Given the description of an element on the screen output the (x, y) to click on. 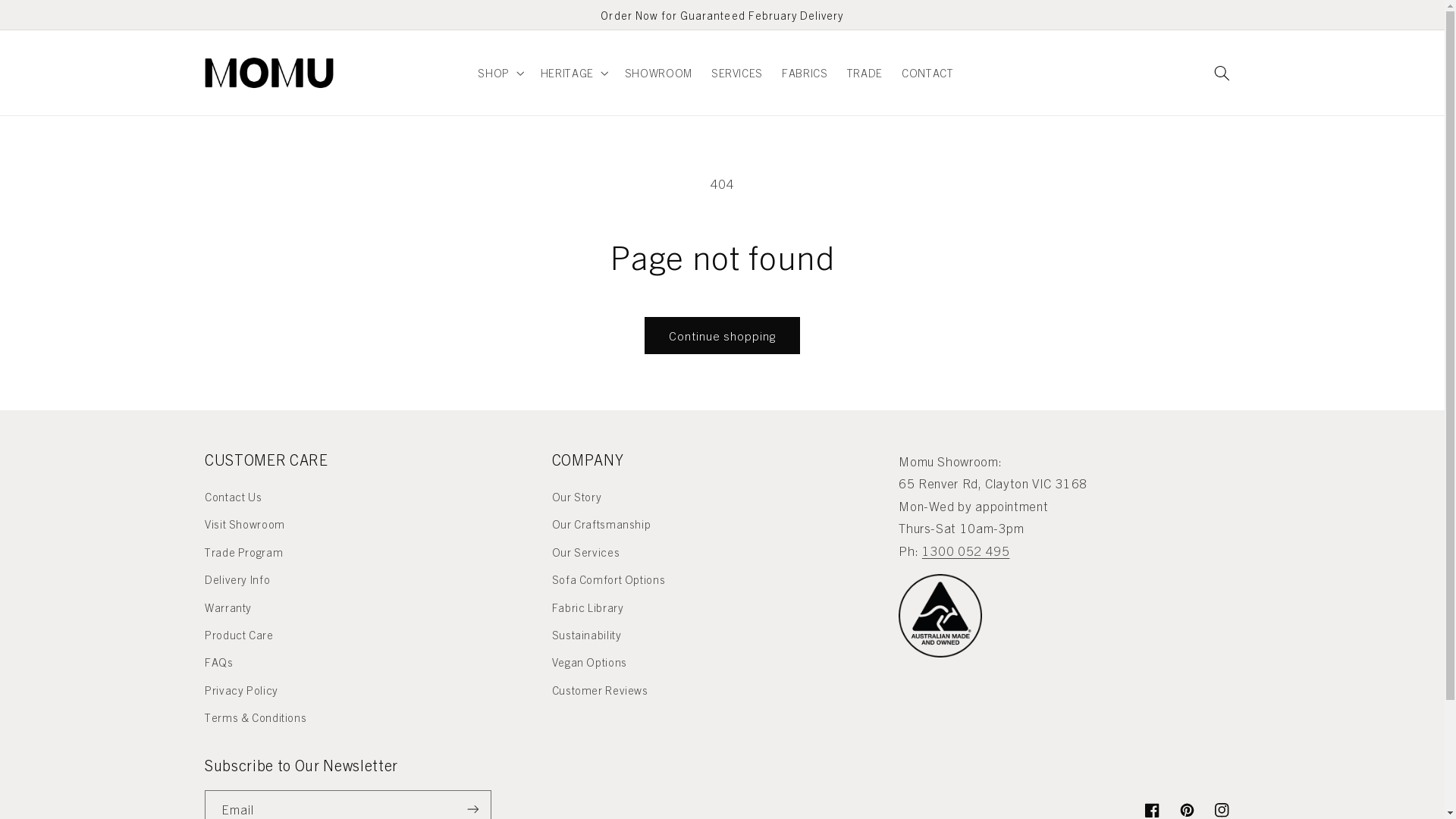
Vegan Options Element type: text (589, 661)
Product Care Element type: text (238, 634)
Terms & Conditions Element type: text (255, 717)
Sustainability Element type: text (586, 634)
TRADE Element type: text (864, 72)
Sofa Comfort Options Element type: text (608, 579)
Our Story Element type: text (577, 498)
Visit Showroom Element type: text (244, 523)
Delivery Info Element type: text (236, 579)
Contact Us Element type: text (232, 498)
SERVICES Element type: text (736, 72)
Our Services Element type: text (586, 551)
FAQs Element type: text (218, 661)
Warranty Element type: text (227, 606)
Privacy Policy Element type: text (241, 688)
1300 052 495 Element type: text (966, 550)
Customer Reviews Element type: text (600, 688)
Continue shopping Element type: text (722, 335)
SHOWROOM Element type: text (658, 72)
FABRICS Element type: text (804, 72)
Trade Program Element type: text (243, 551)
Fabric Library Element type: text (588, 606)
Our Craftsmanship Element type: text (601, 523)
CONTACT Element type: text (927, 72)
